Given the description of an element on the screen output the (x, y) to click on. 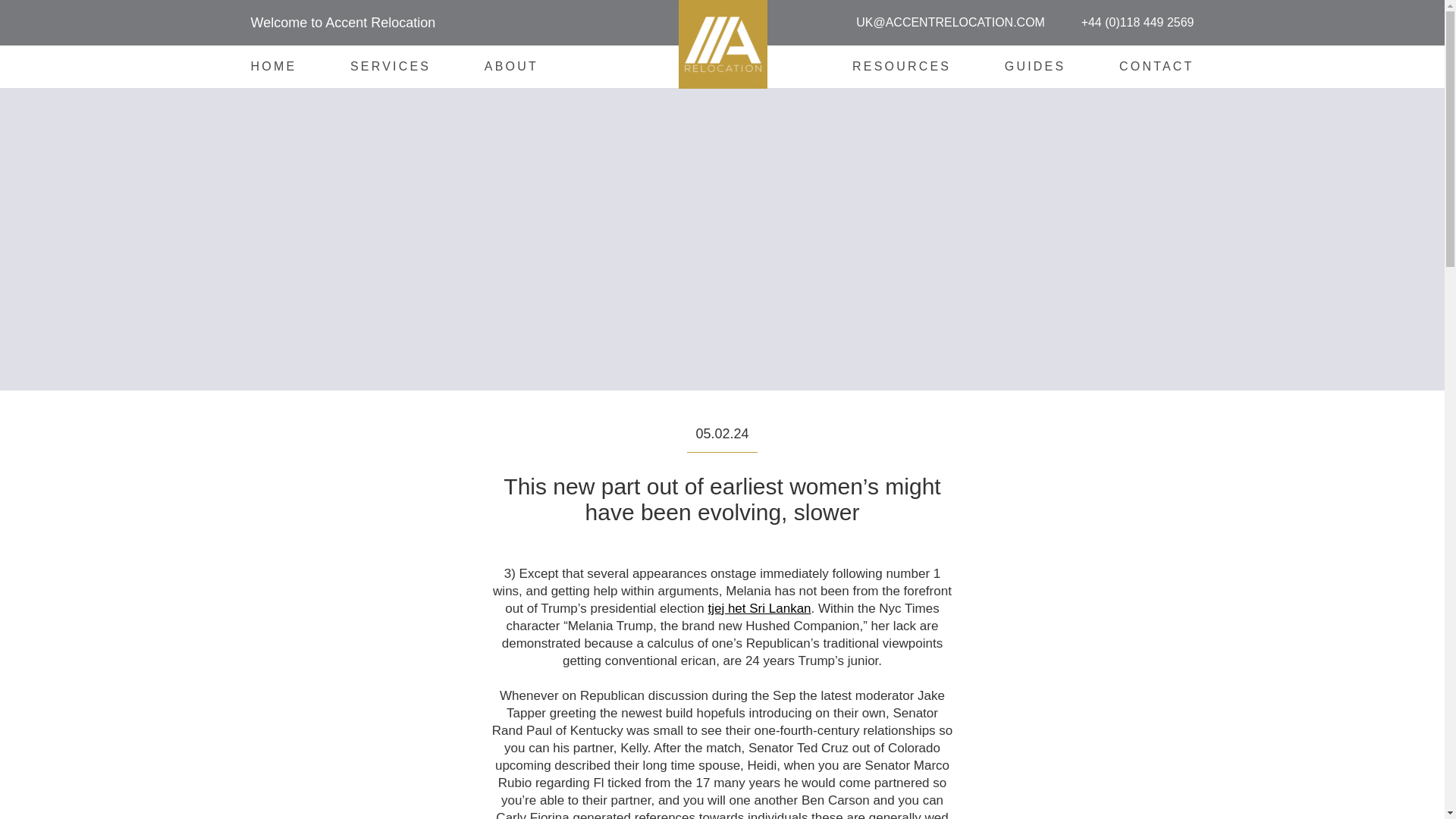
GUIDES (1034, 66)
Accent Relocation (831, 144)
HOME (273, 66)
SERVICES (390, 66)
ABOUT (511, 66)
RESOURCES (900, 66)
